Given the description of an element on the screen output the (x, y) to click on. 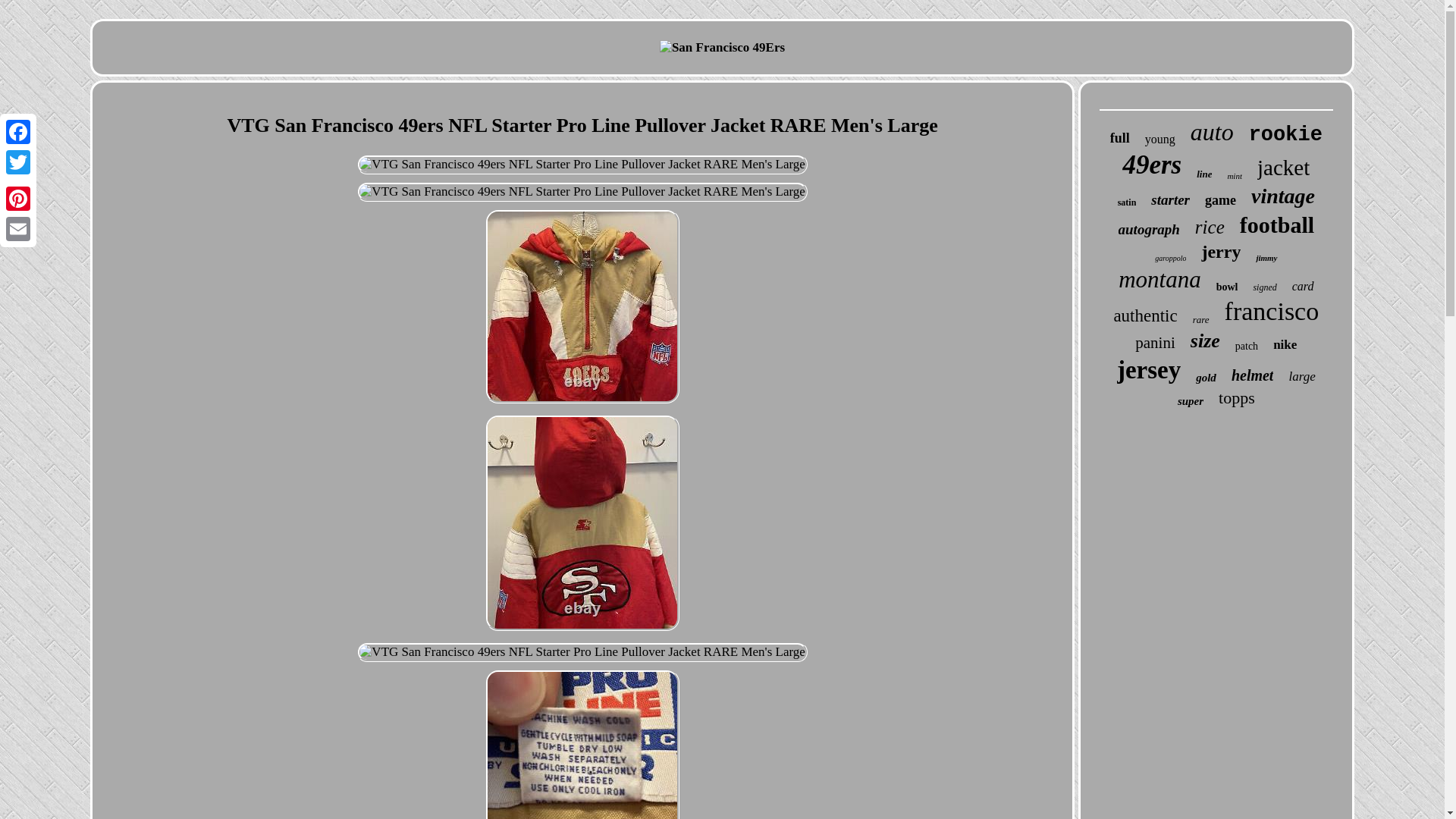
signed (1264, 287)
jacket (1282, 167)
jerry (1220, 251)
Pinterest (17, 198)
garoppolo (1170, 257)
vintage (1282, 196)
size (1205, 341)
starter (1170, 199)
